Given the description of an element on the screen output the (x, y) to click on. 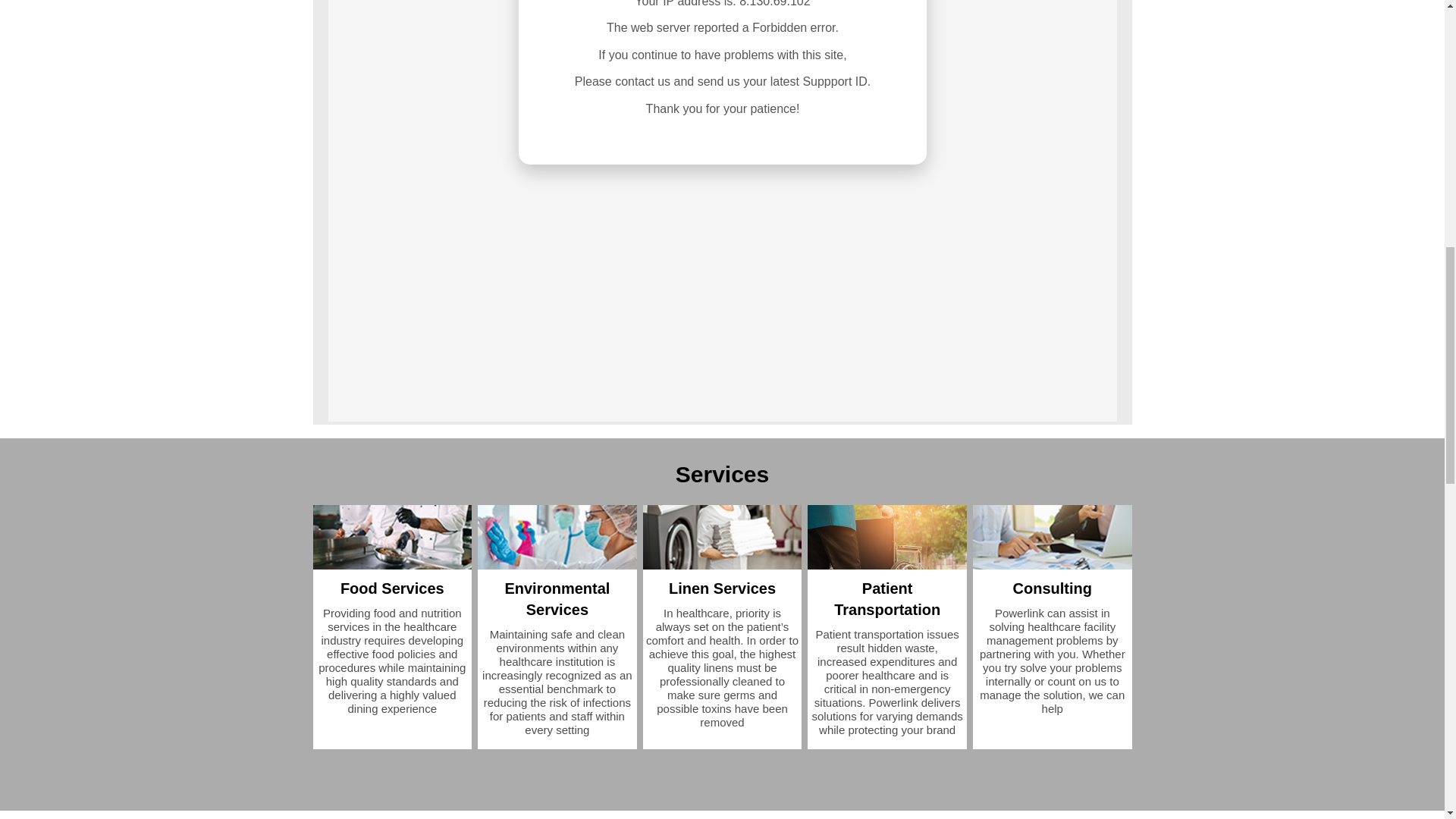
Patient Trnsportation 4 (887, 537)
